Given the description of an element on the screen output the (x, y) to click on. 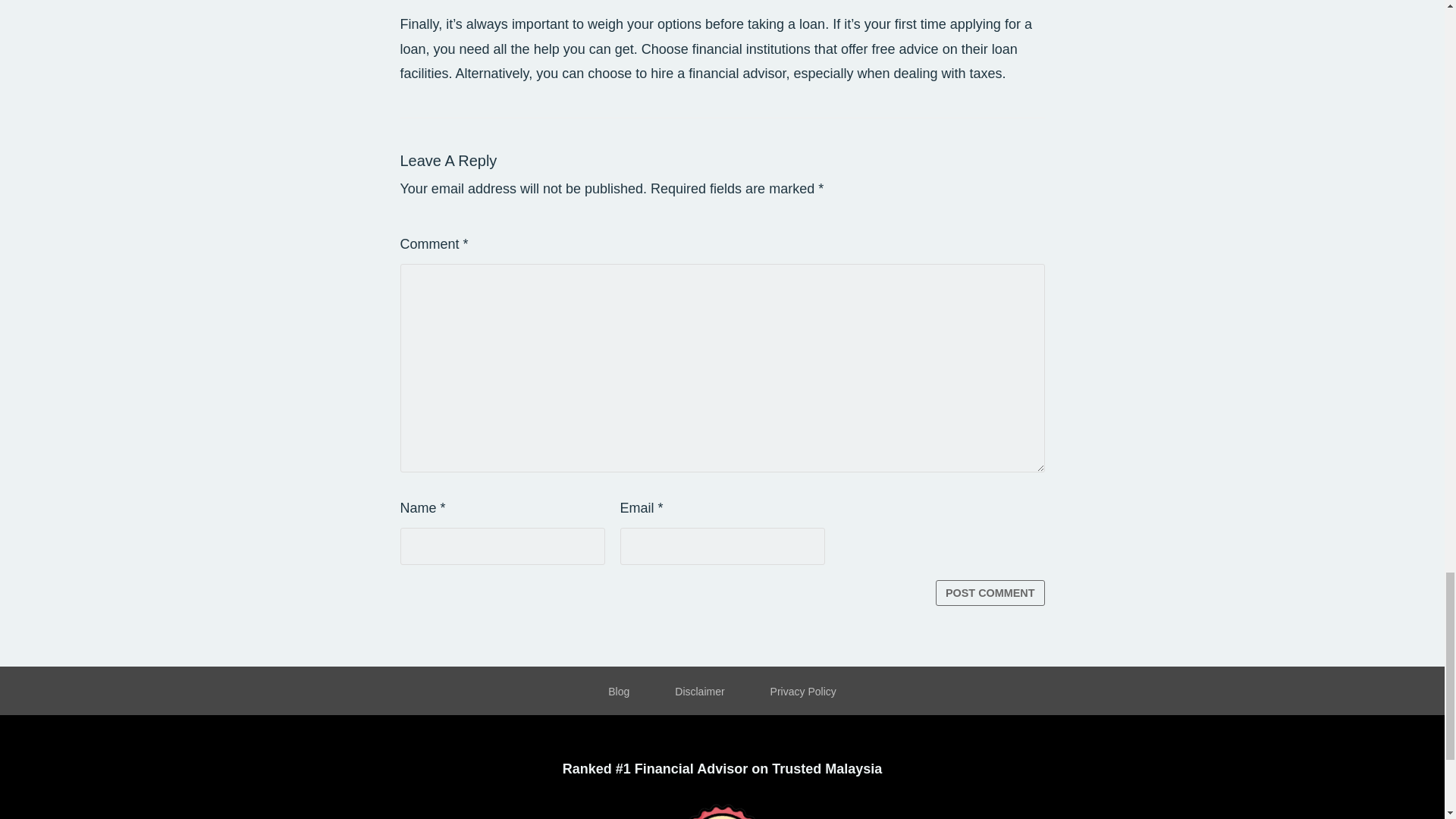
Disclaimer (699, 692)
Post Comment (990, 592)
Privacy Policy (803, 692)
Post Comment (990, 592)
Blog (618, 692)
